Given the description of an element on the screen output the (x, y) to click on. 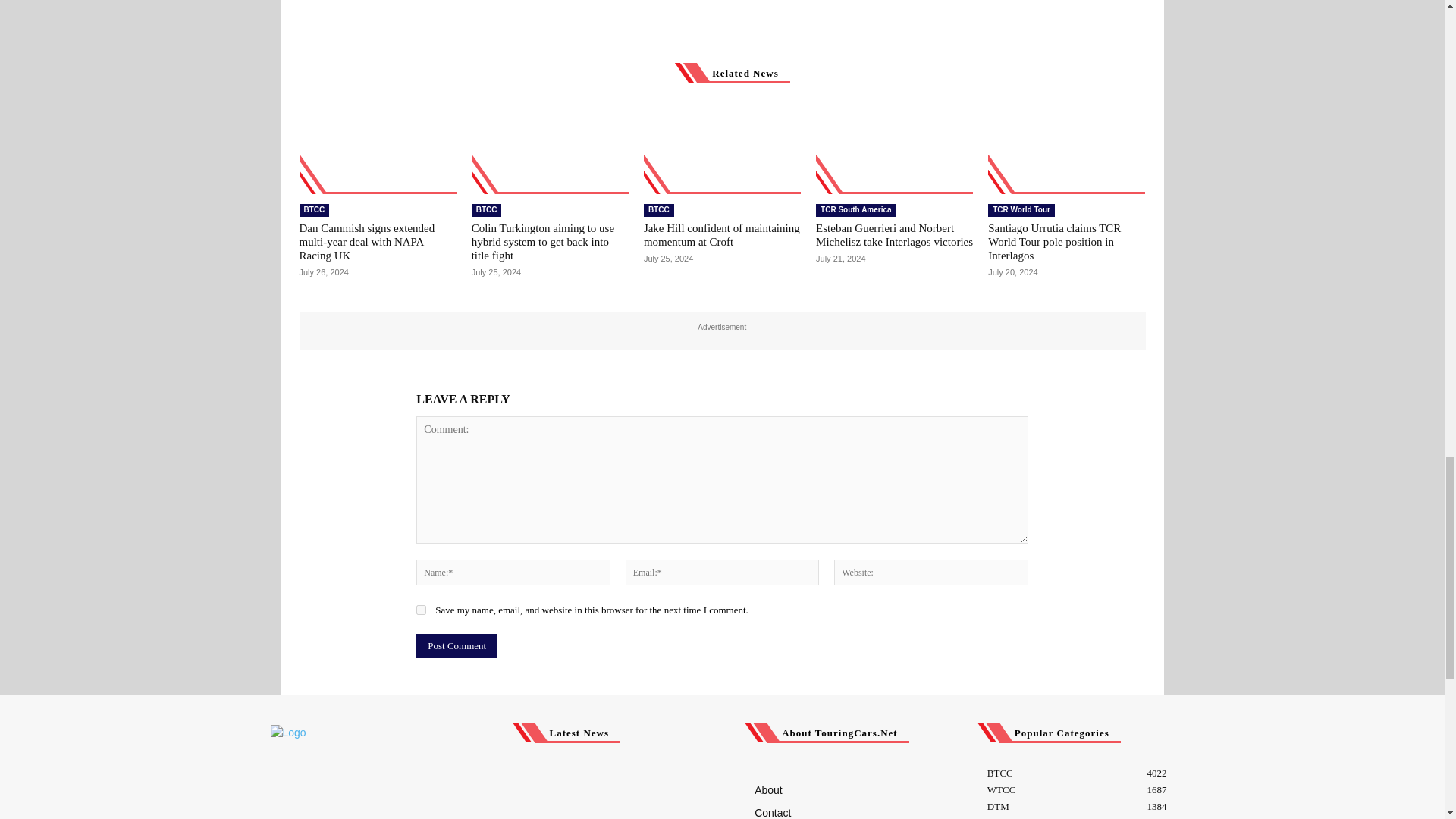
Post Comment (456, 645)
yes (421, 610)
